Given the description of an element on the screen output the (x, y) to click on. 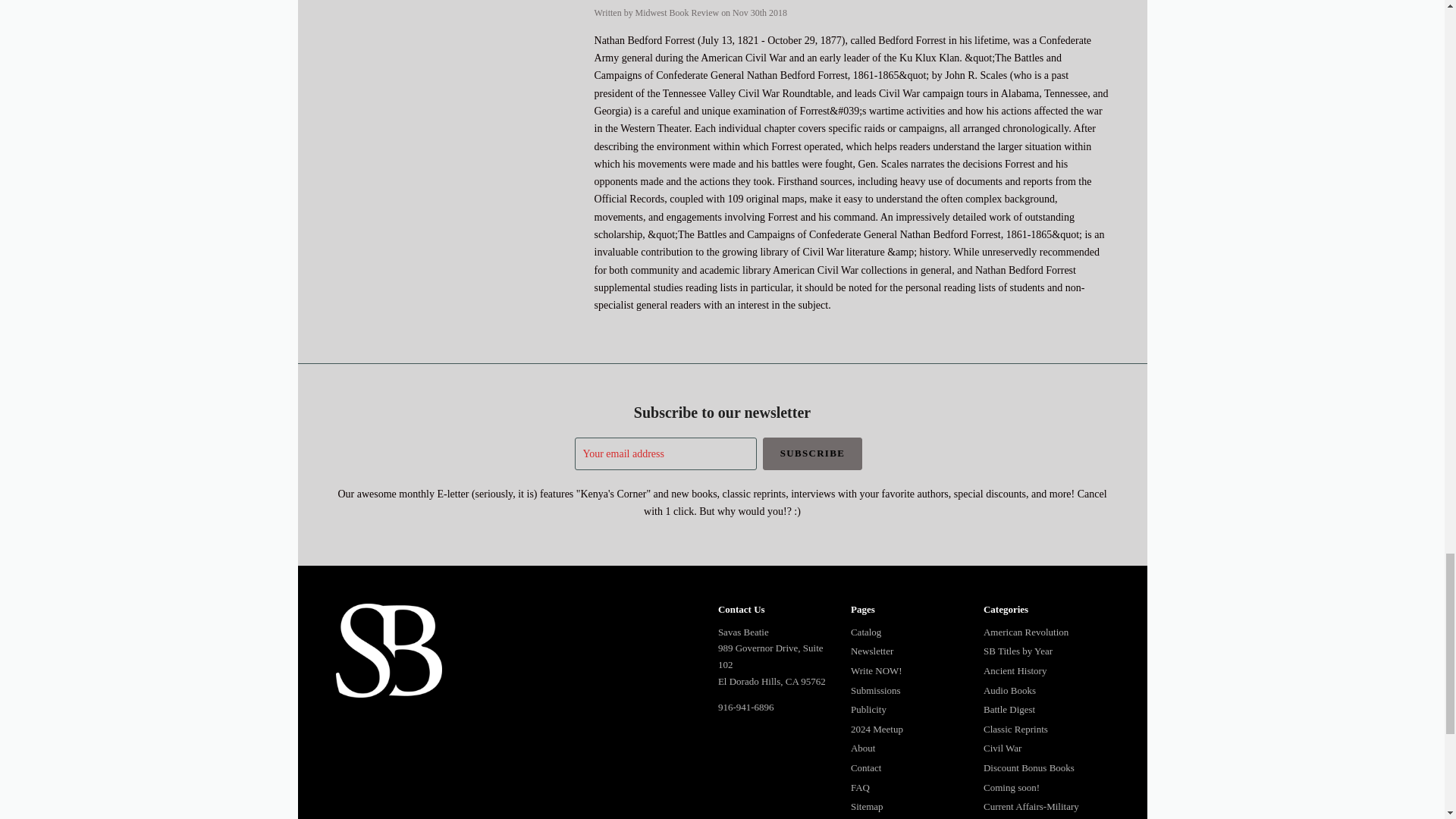
Subscribe (812, 453)
